Given the description of an element on the screen output the (x, y) to click on. 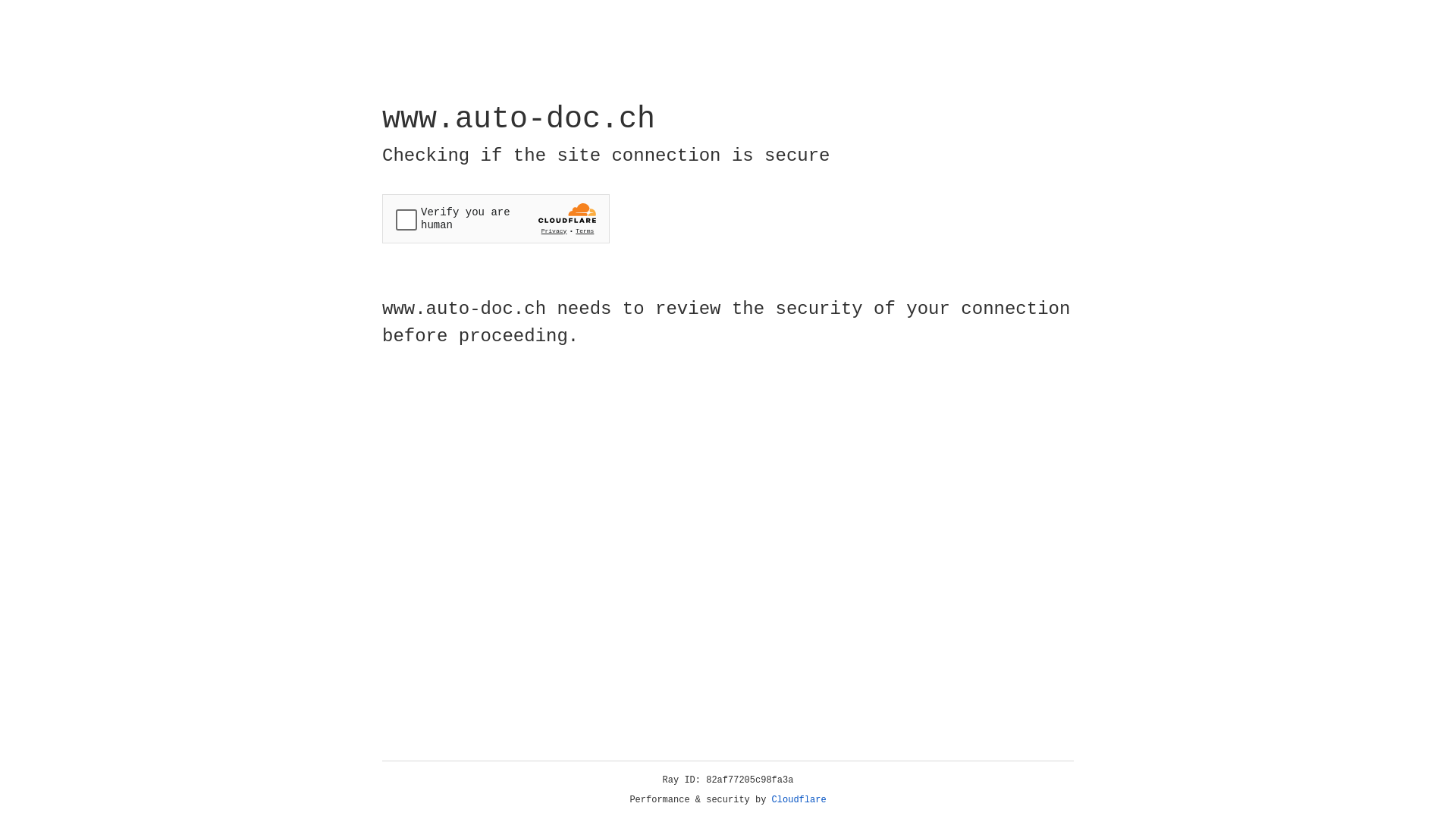
Cloudflare Element type: text (798, 799)
Widget containing a Cloudflare security challenge Element type: hover (495, 218)
